Given the description of an element on the screen output the (x, y) to click on. 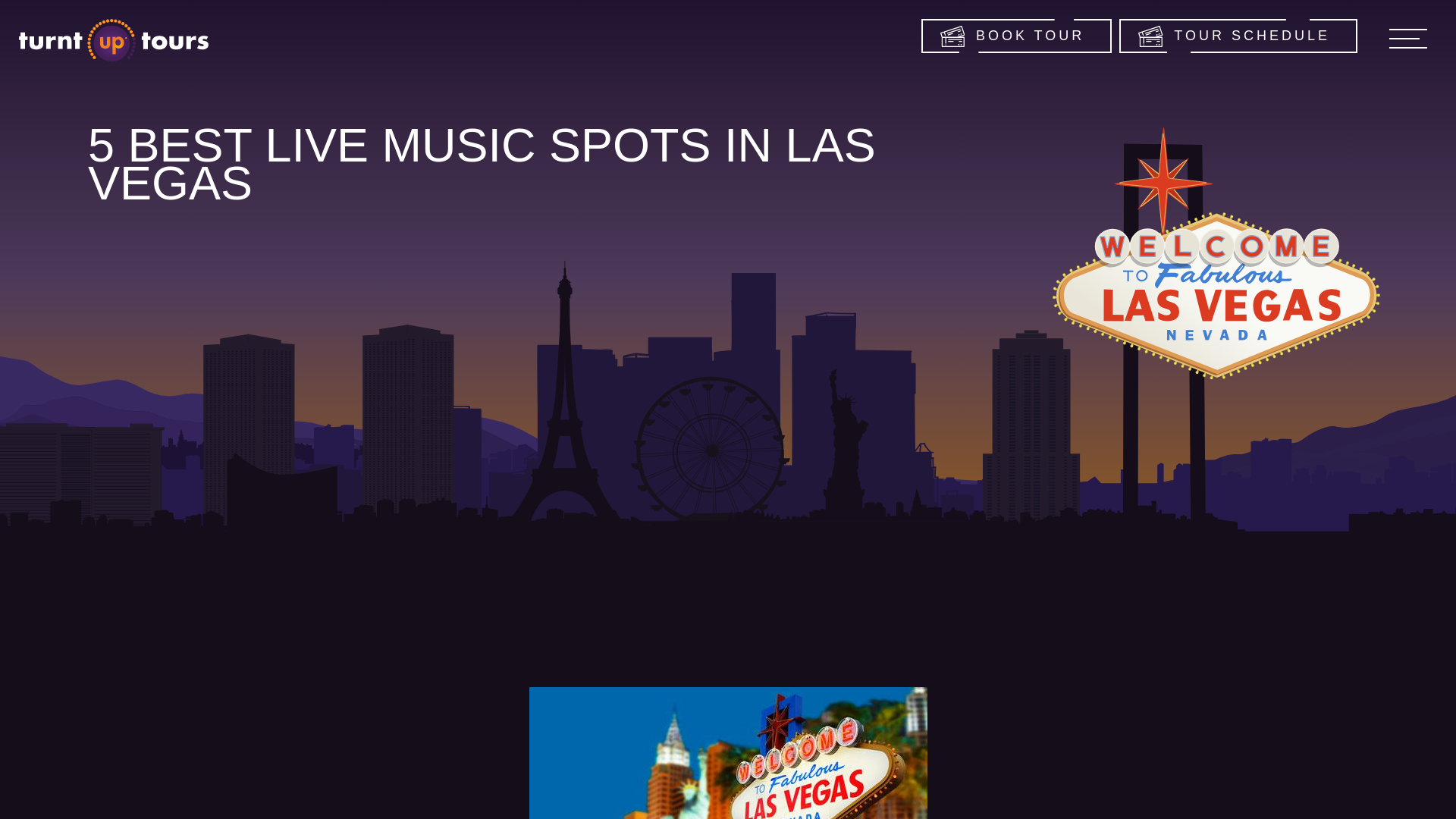
TOUR SCHEDULE (1237, 35)
BOOK TOUR (1016, 35)
